Given the description of an element on the screen output the (x, y) to click on. 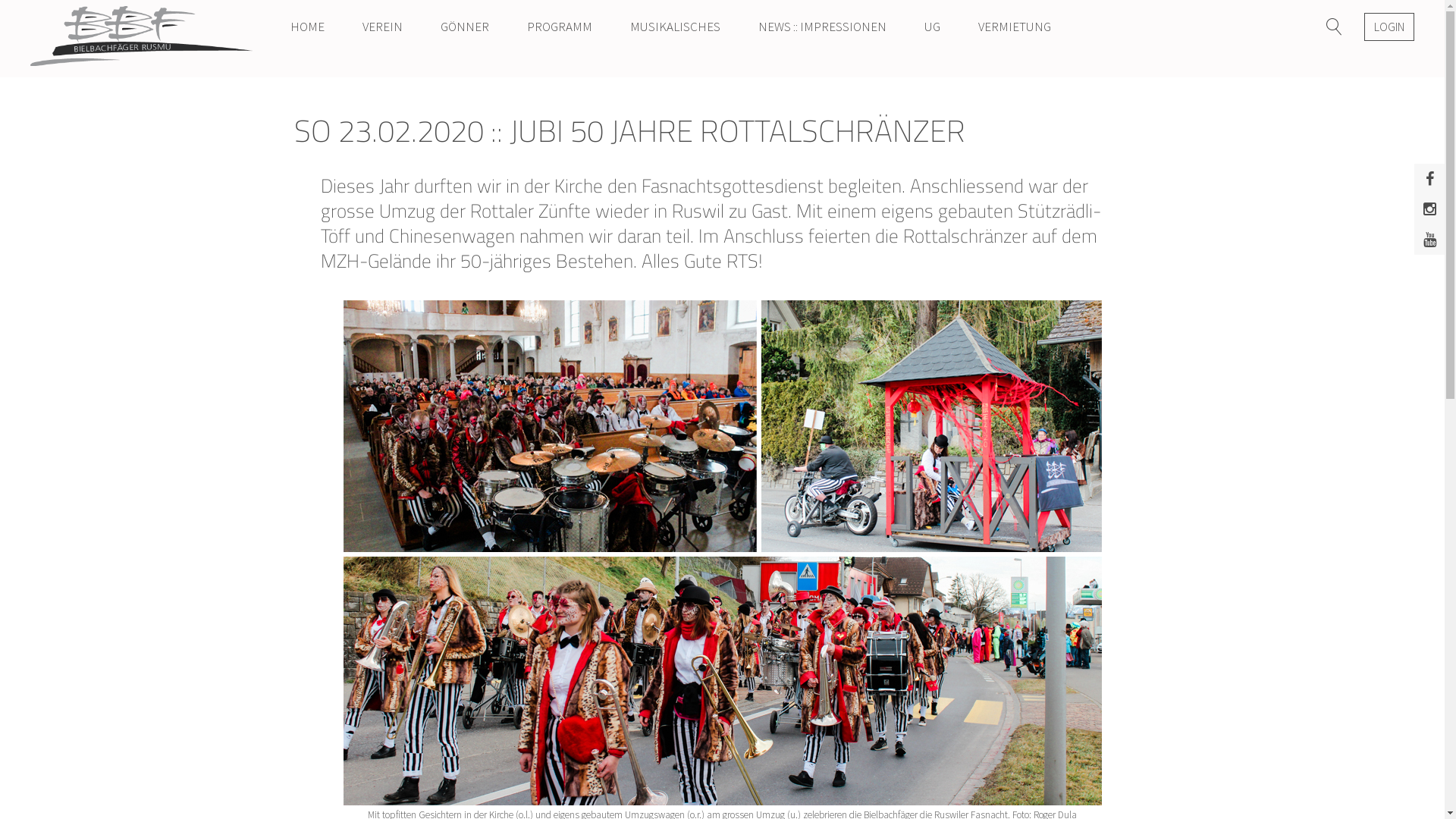
MUSIKALISCHES Element type: text (675, 26)
PROGRAMM Element type: text (559, 26)
LOGIN Element type: text (1389, 26)
HOME Element type: text (307, 26)
NEWS :: IMPRESSIONEN Element type: text (822, 26)
VERMIETUNG Element type: text (1014, 26)
UG Element type: text (932, 26)
VEREIN Element type: text (382, 26)
